Given the description of an element on the screen output the (x, y) to click on. 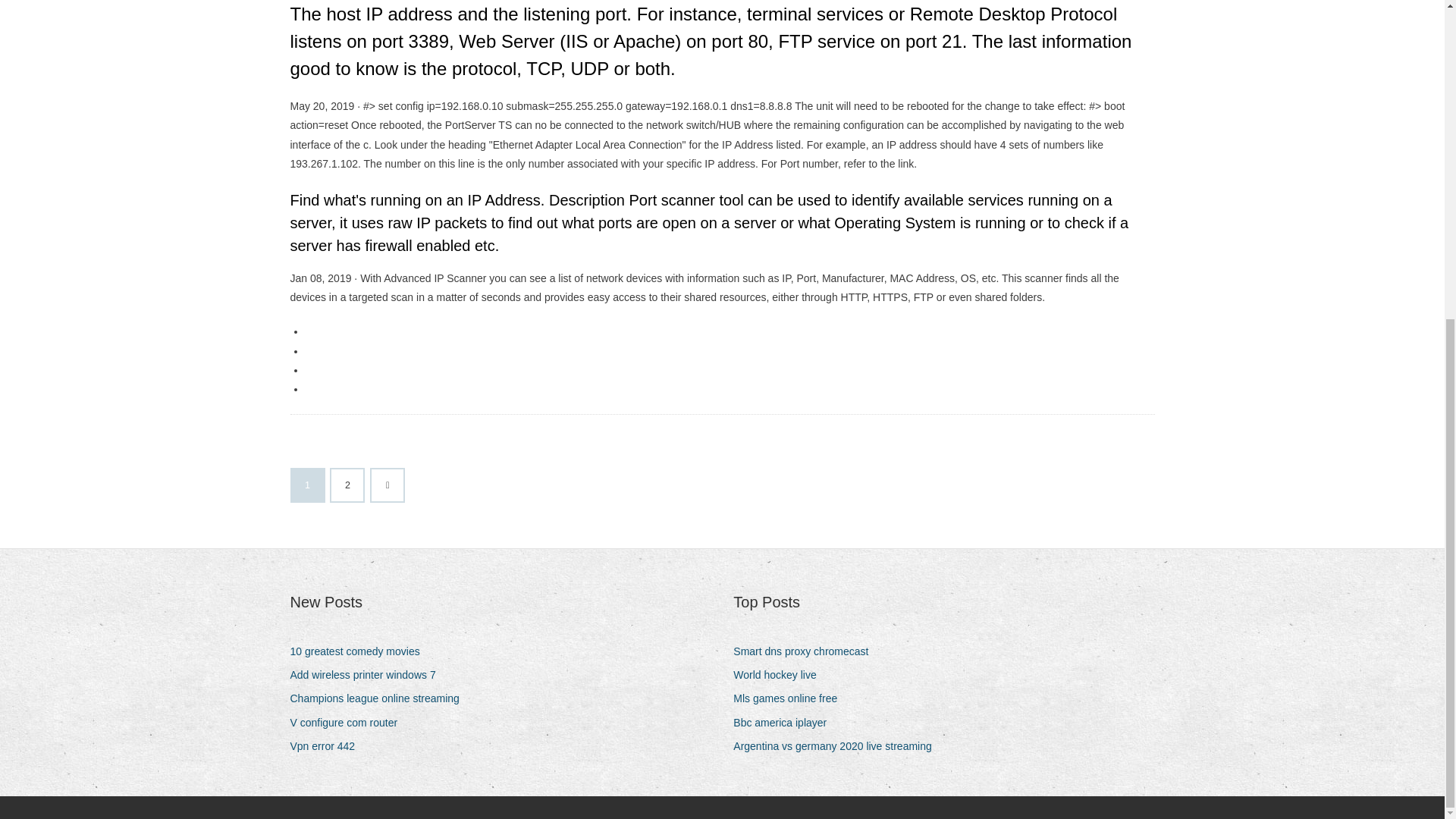
2 (346, 485)
V configure com router (349, 722)
10 greatest comedy movies (359, 651)
Vpn error 442 (327, 746)
Champions league online streaming (379, 698)
Smart dns proxy chromecast (806, 651)
World hockey live (780, 675)
Mls games online free (790, 698)
Argentina vs germany 2020 live streaming (837, 746)
Add wireless printer windows 7 (367, 675)
Bbc america iplayer (785, 722)
